Given the description of an element on the screen output the (x, y) to click on. 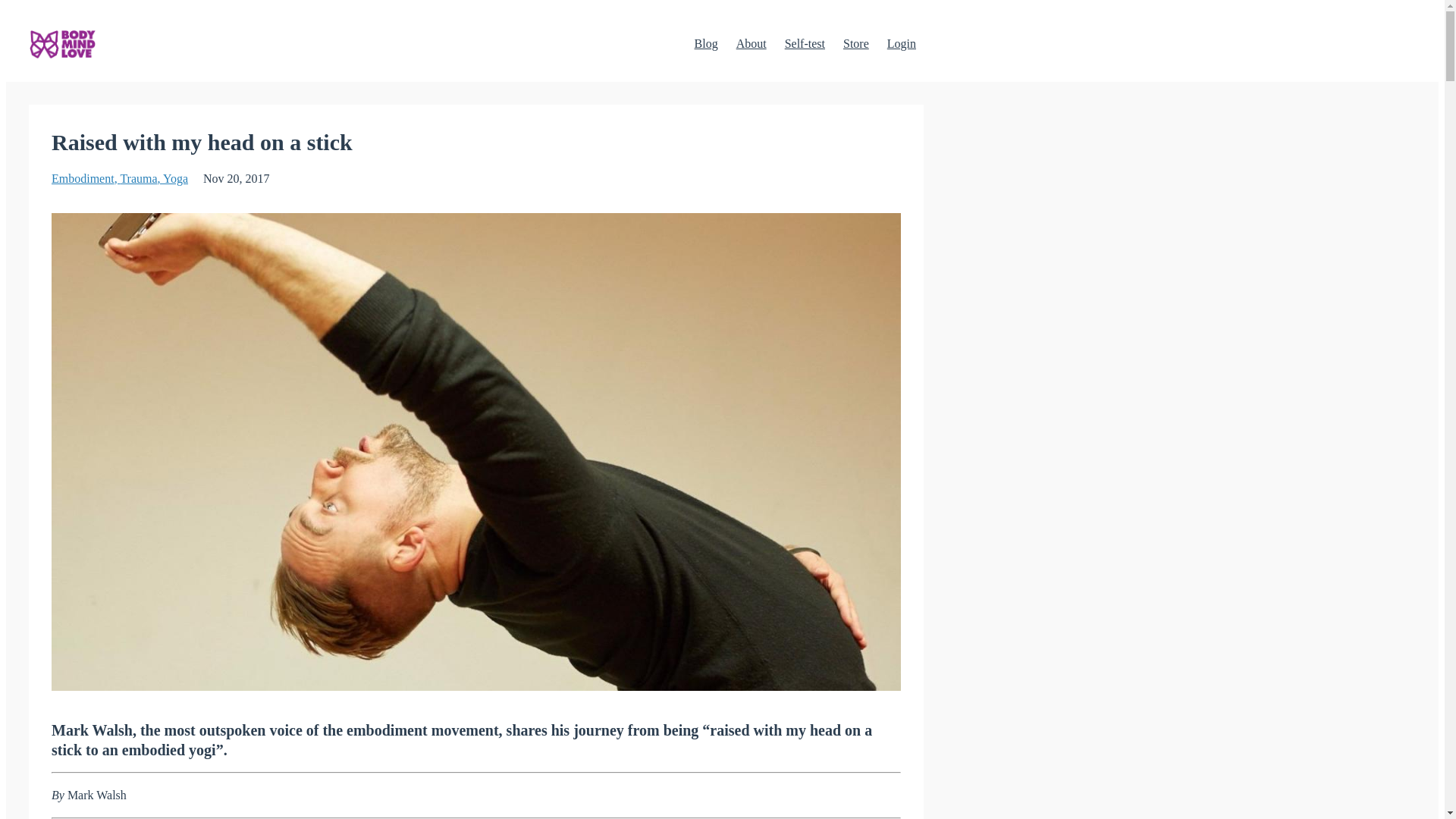
Yoga (175, 178)
Self-test (804, 43)
Trauma (141, 178)
Login (900, 43)
Embodiment (84, 178)
About (751, 43)
